Given the description of an element on the screen output the (x, y) to click on. 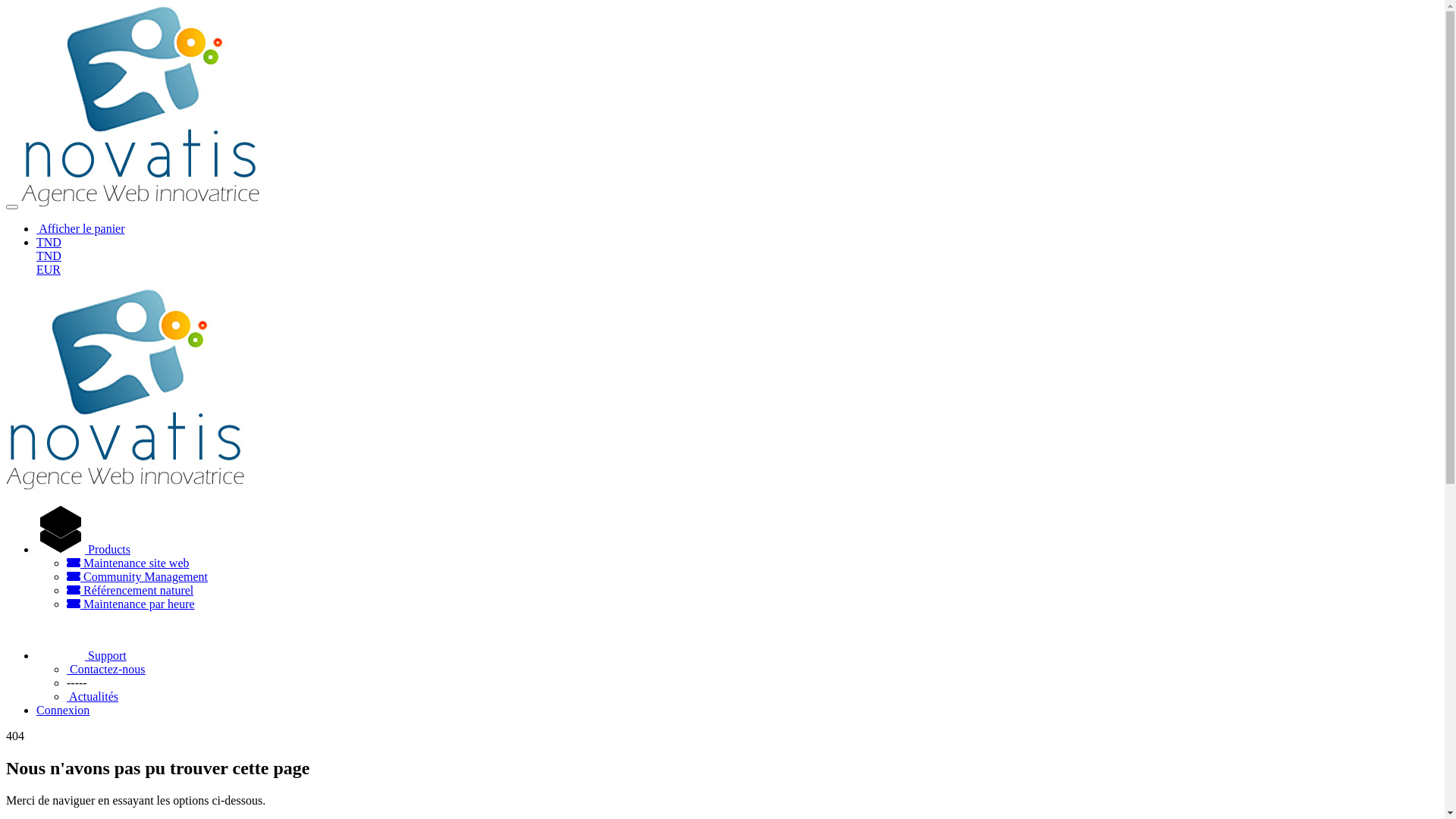
NOVATIS Element type: hover (140, 106)
Maintenance par heure Element type: text (130, 603)
TND Element type: text (48, 255)
Maintenance site web Element type: text (127, 562)
Community Management Element type: text (136, 576)
NOVATIS Element type: hover (125, 388)
Contactez-nous Element type: text (105, 668)
TND Element type: text (48, 241)
Afficher le panier Element type: text (80, 228)
Support Element type: text (81, 655)
Connexion Element type: text (62, 709)
EUR Element type: text (48, 269)
Products Element type: text (83, 548)
